Given the description of an element on the screen output the (x, y) to click on. 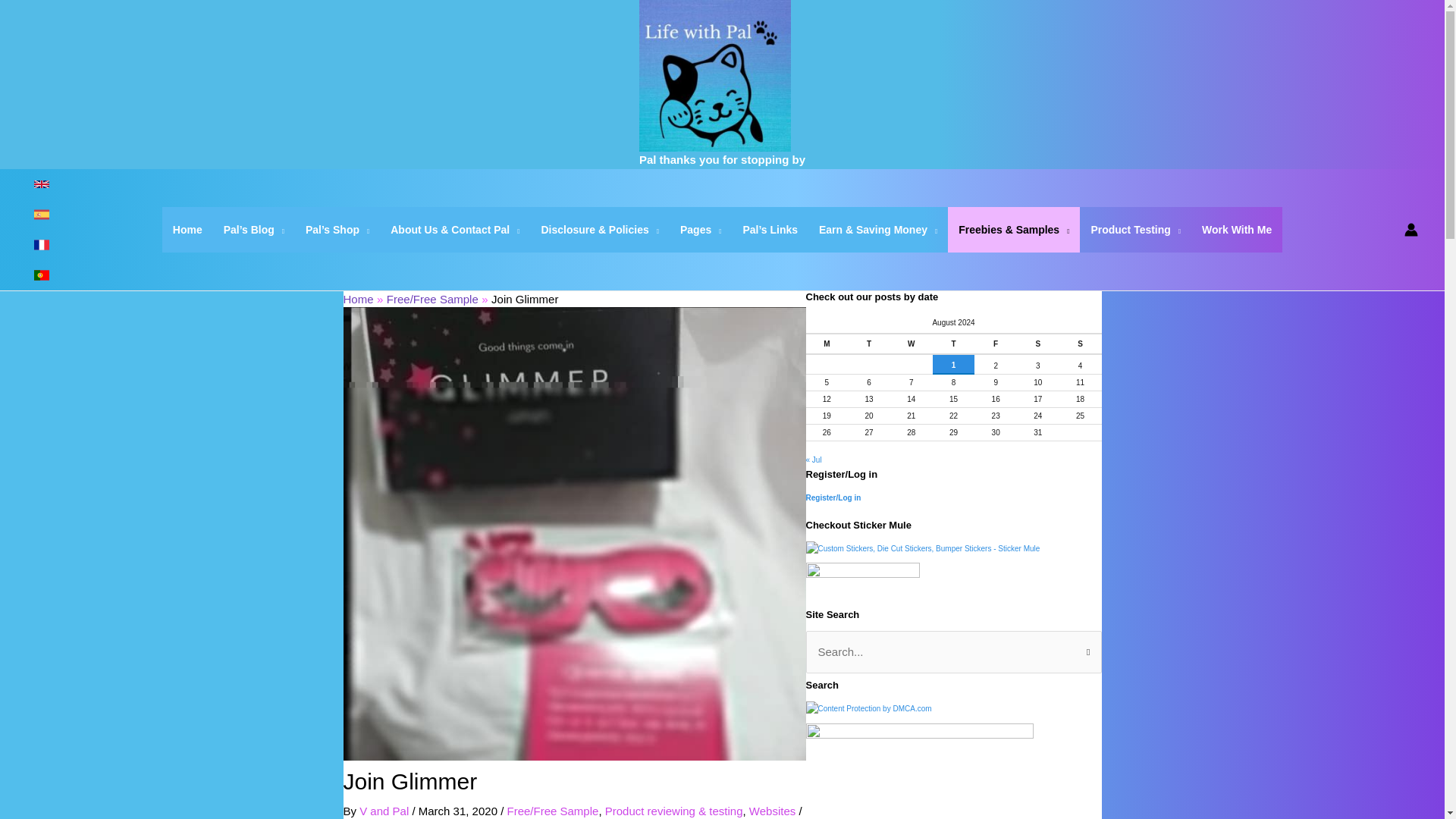
Pages (700, 228)
Home (186, 228)
Monday (826, 343)
View all posts by V and Pal (385, 810)
